Given the description of an element on the screen output the (x, y) to click on. 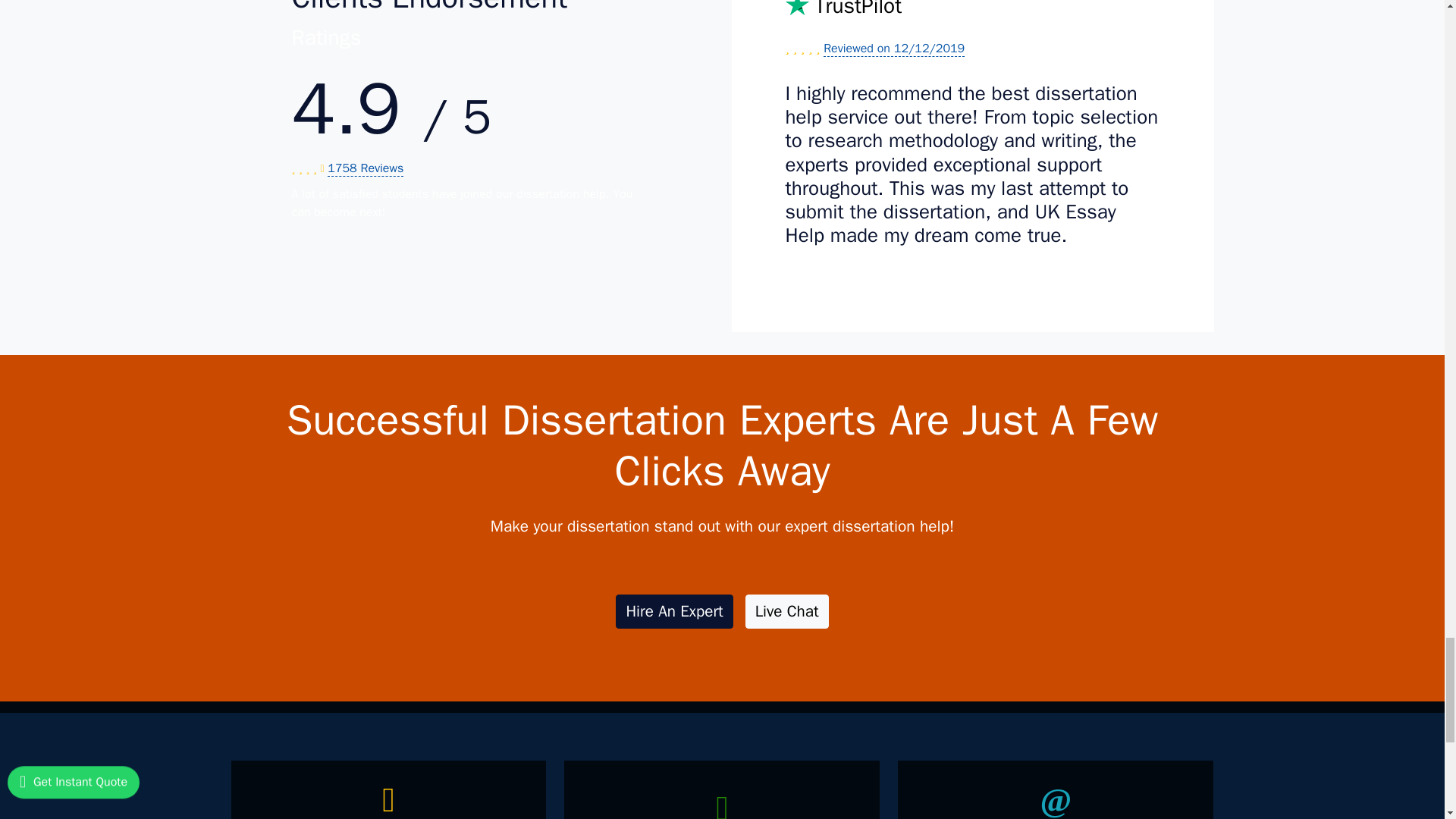
TrustPilot (973, 13)
